Given the description of an element on the screen output the (x, y) to click on. 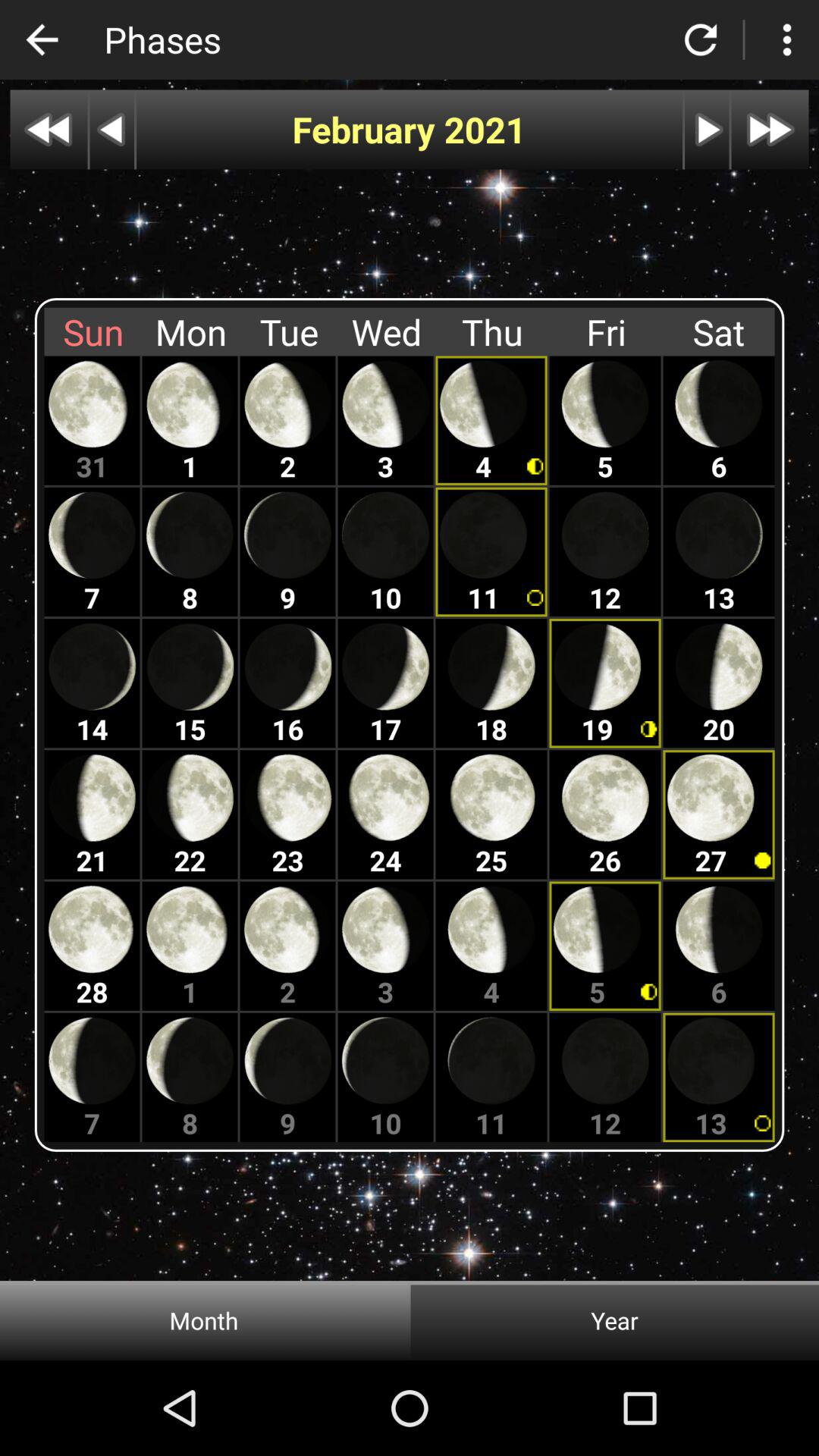
go to previous (111, 129)
